Given the description of an element on the screen output the (x, y) to click on. 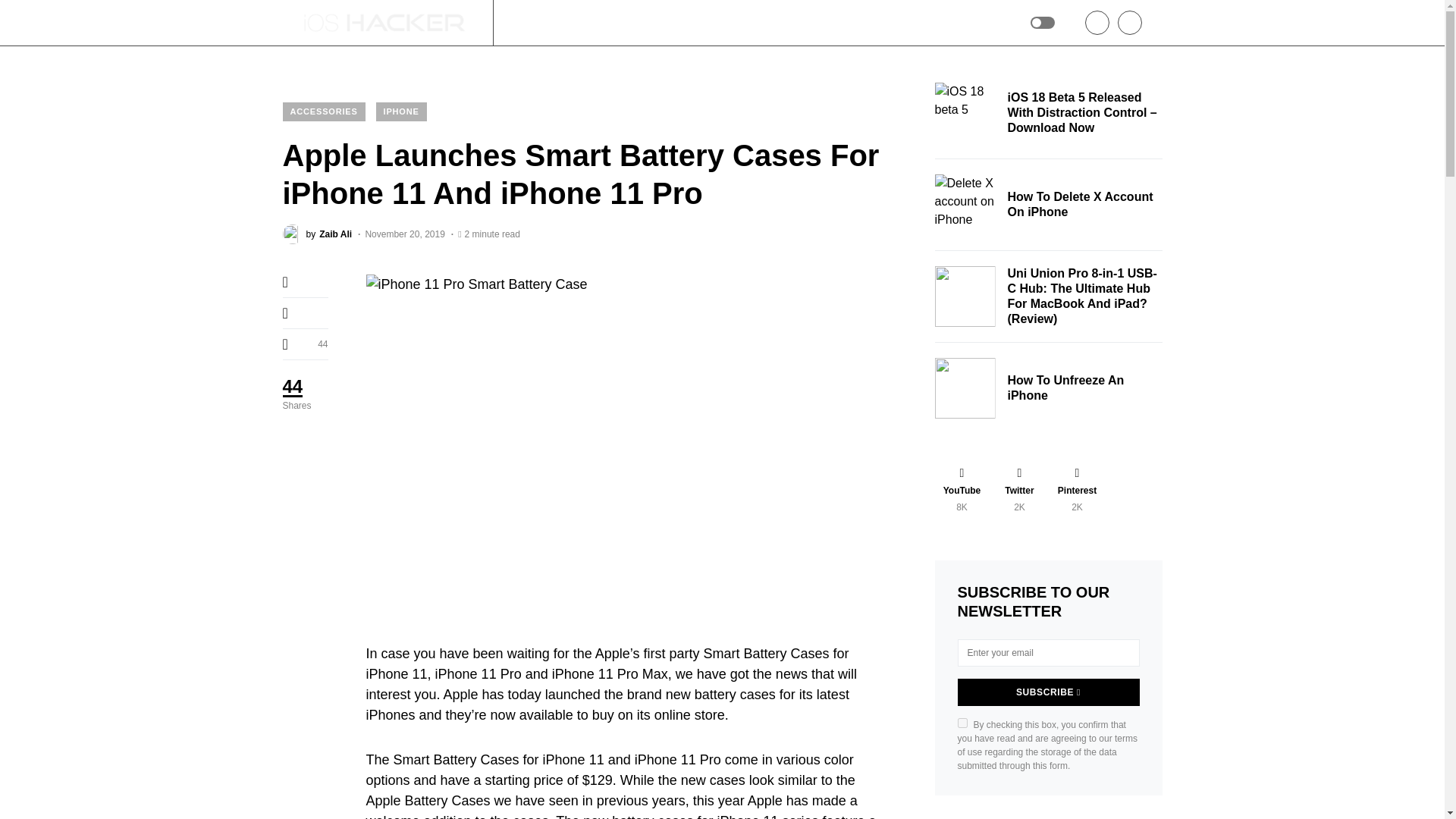
View all posts by Zaib Ali (317, 234)
on (961, 723)
